Given the description of an element on the screen output the (x, y) to click on. 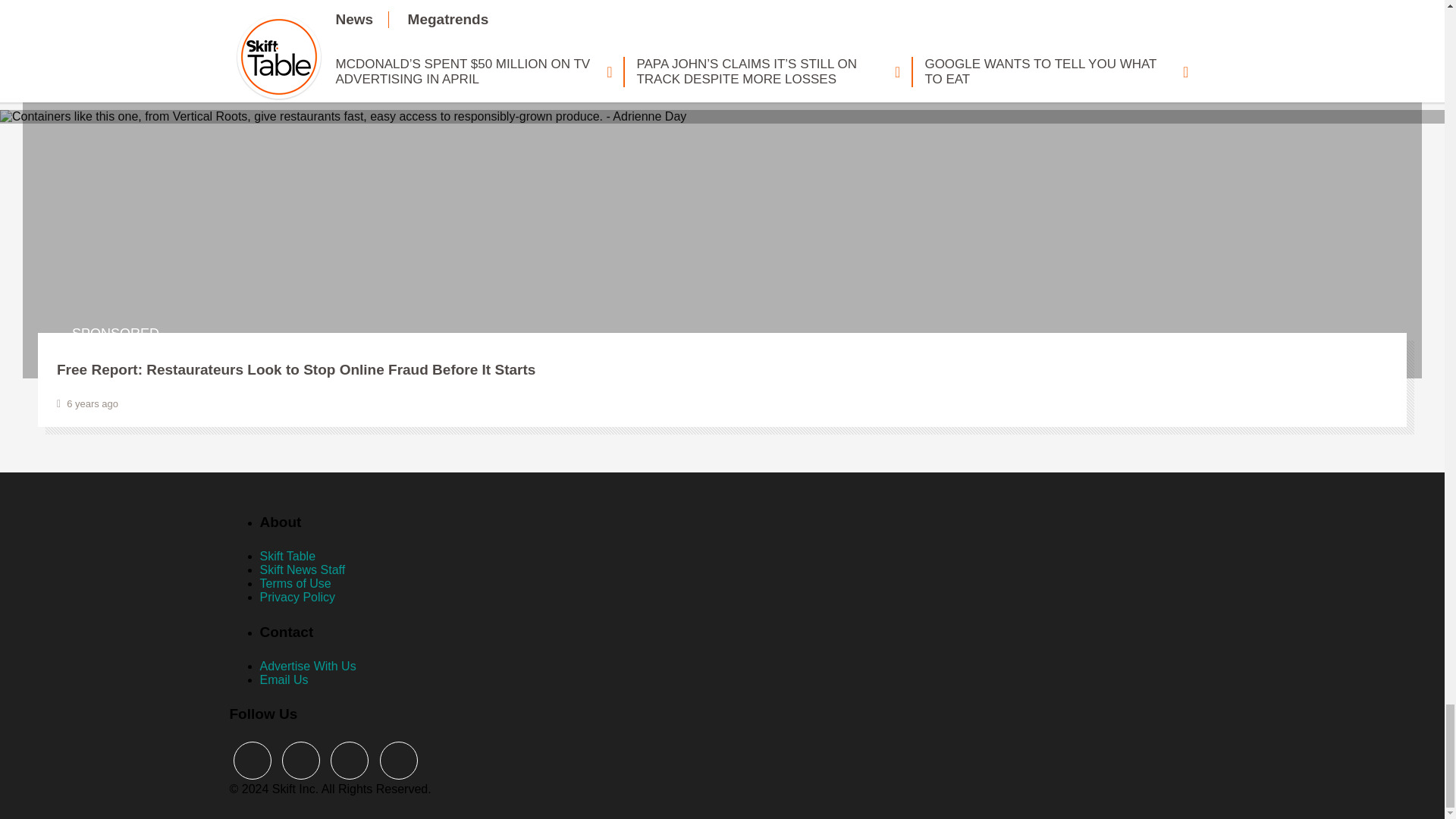
Skift News Staff (302, 569)
Privacy Policy (296, 596)
Skift Table (287, 555)
Terms of Use (294, 583)
Advertise With Us (307, 666)
Email Us (283, 679)
